Given the description of an element on the screen output the (x, y) to click on. 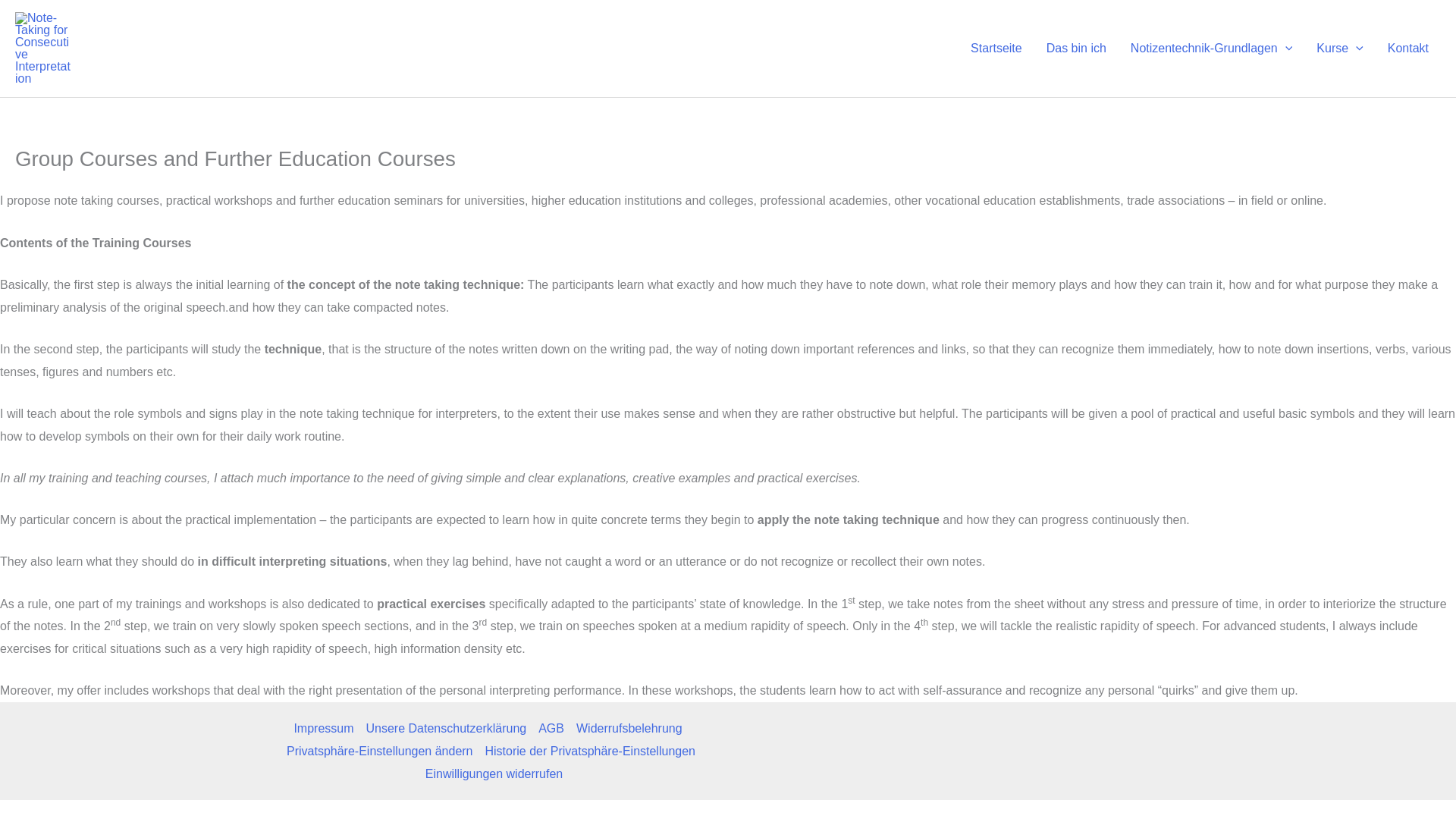
AGB (551, 728)
Startseite (995, 48)
Notizentechnik-Grundlagen (1211, 48)
Widerrufsbelehrung (629, 728)
Kontakt (1408, 48)
Impressum (326, 728)
Das bin ich (1075, 48)
Kurse (1339, 48)
